Given the description of an element on the screen output the (x, y) to click on. 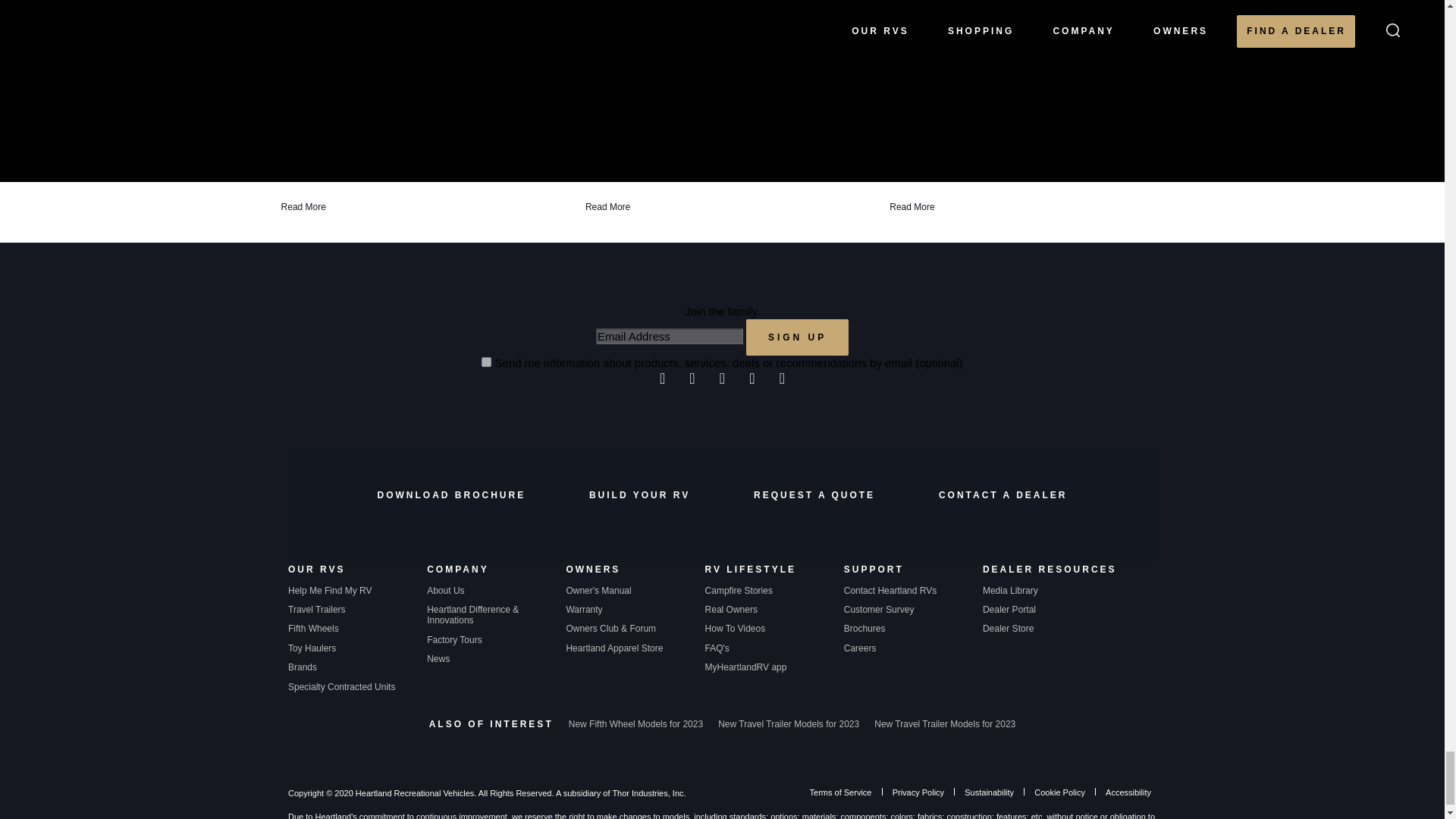
on (486, 361)
Sign Up (796, 337)
